Given the description of an element on the screen output the (x, y) to click on. 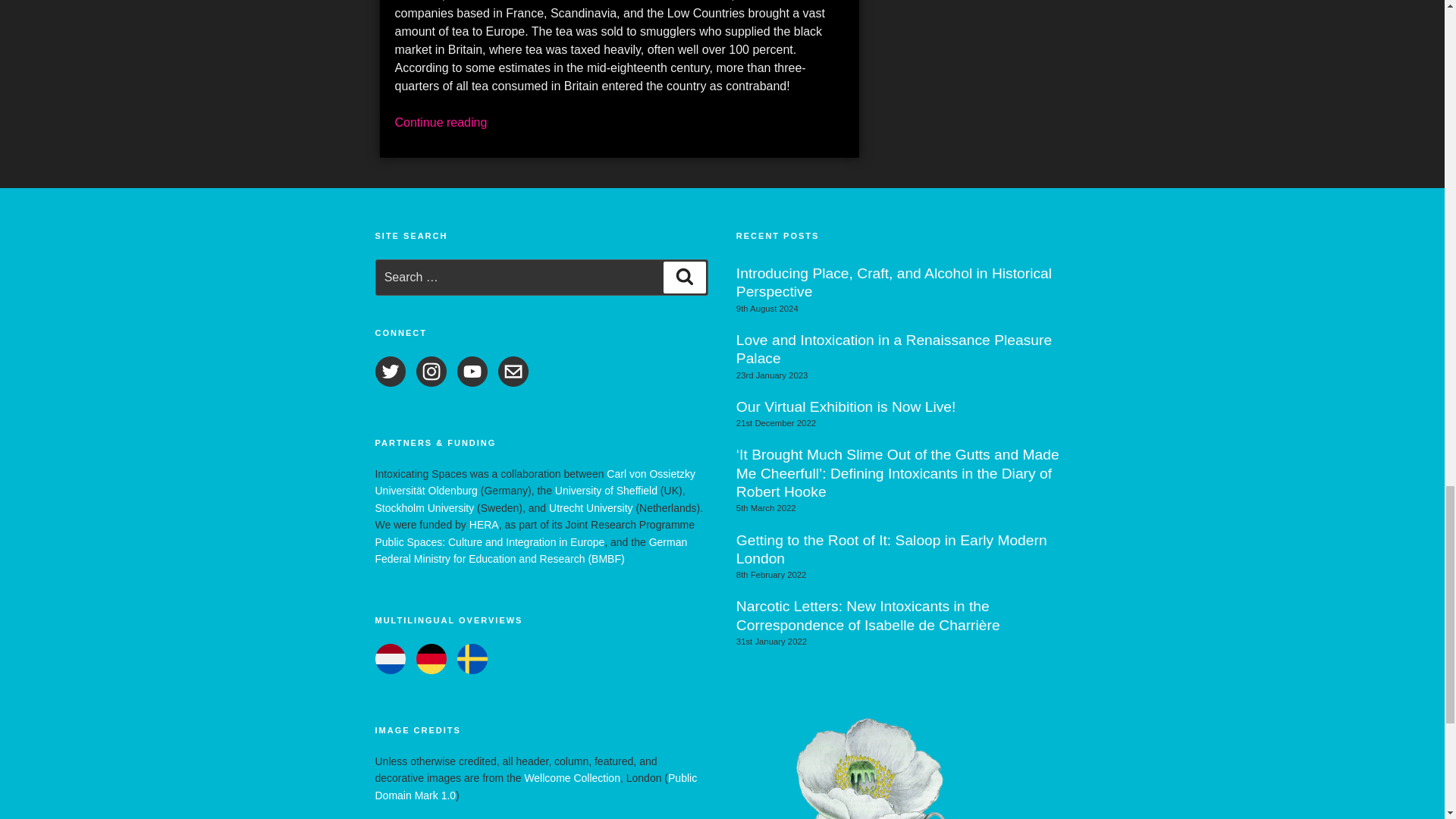
Stockholm University (424, 508)
Utrecht University (589, 508)
Search (684, 277)
HERA (483, 524)
Wellcome Collection (572, 777)
University of Sheffield (606, 490)
Public Spaces: Culture and Integration in Europe (489, 541)
